Given the description of an element on the screen output the (x, y) to click on. 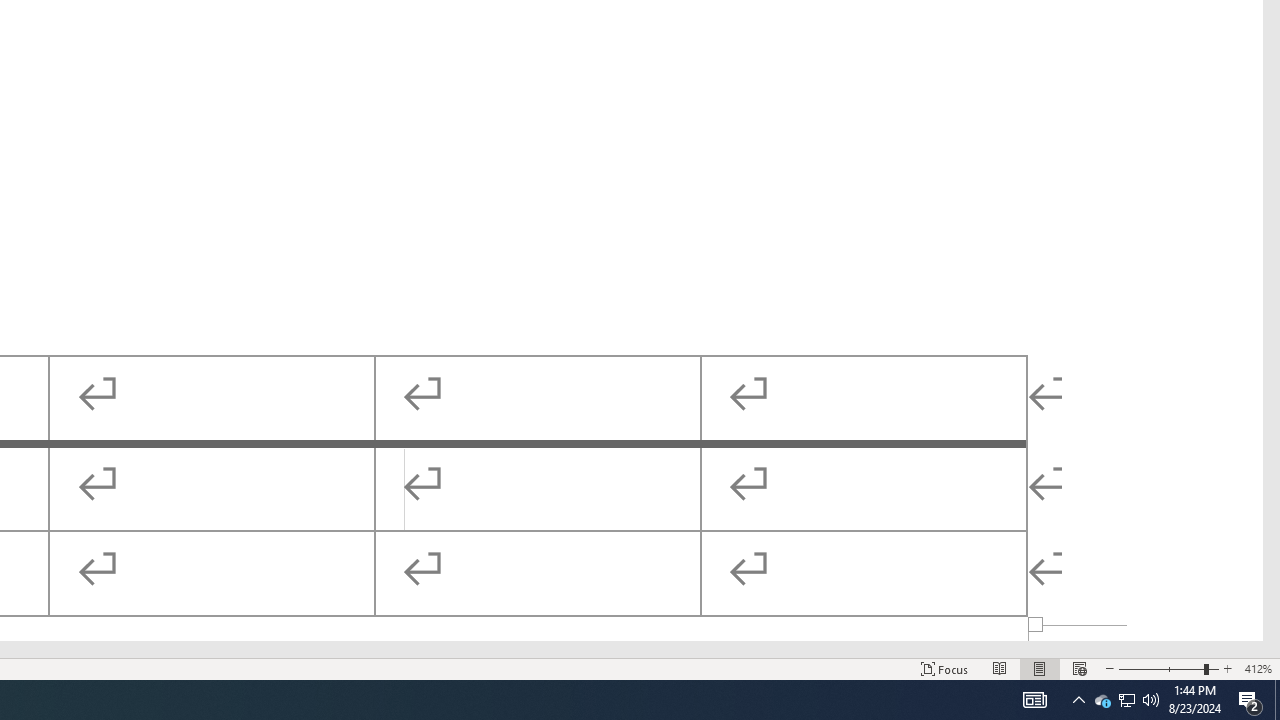
Zoom 412% (1258, 668)
